Given the description of an element on the screen output the (x, y) to click on. 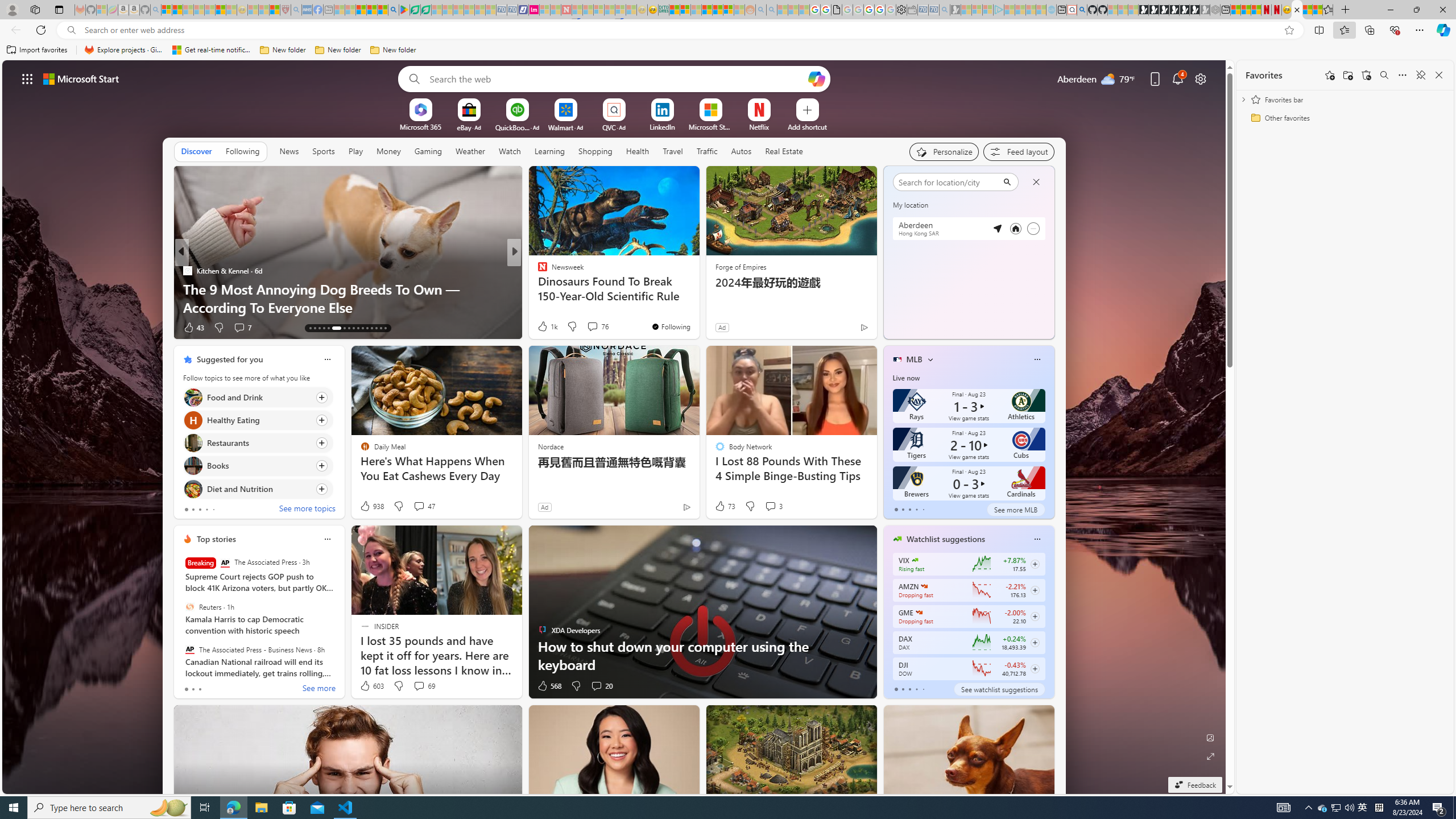
View comments 69 Comment (419, 685)
AutomationID: tab-39 (384, 328)
88 Like (543, 327)
tab-4 (923, 689)
